Given the description of an element on the screen output the (x, y) to click on. 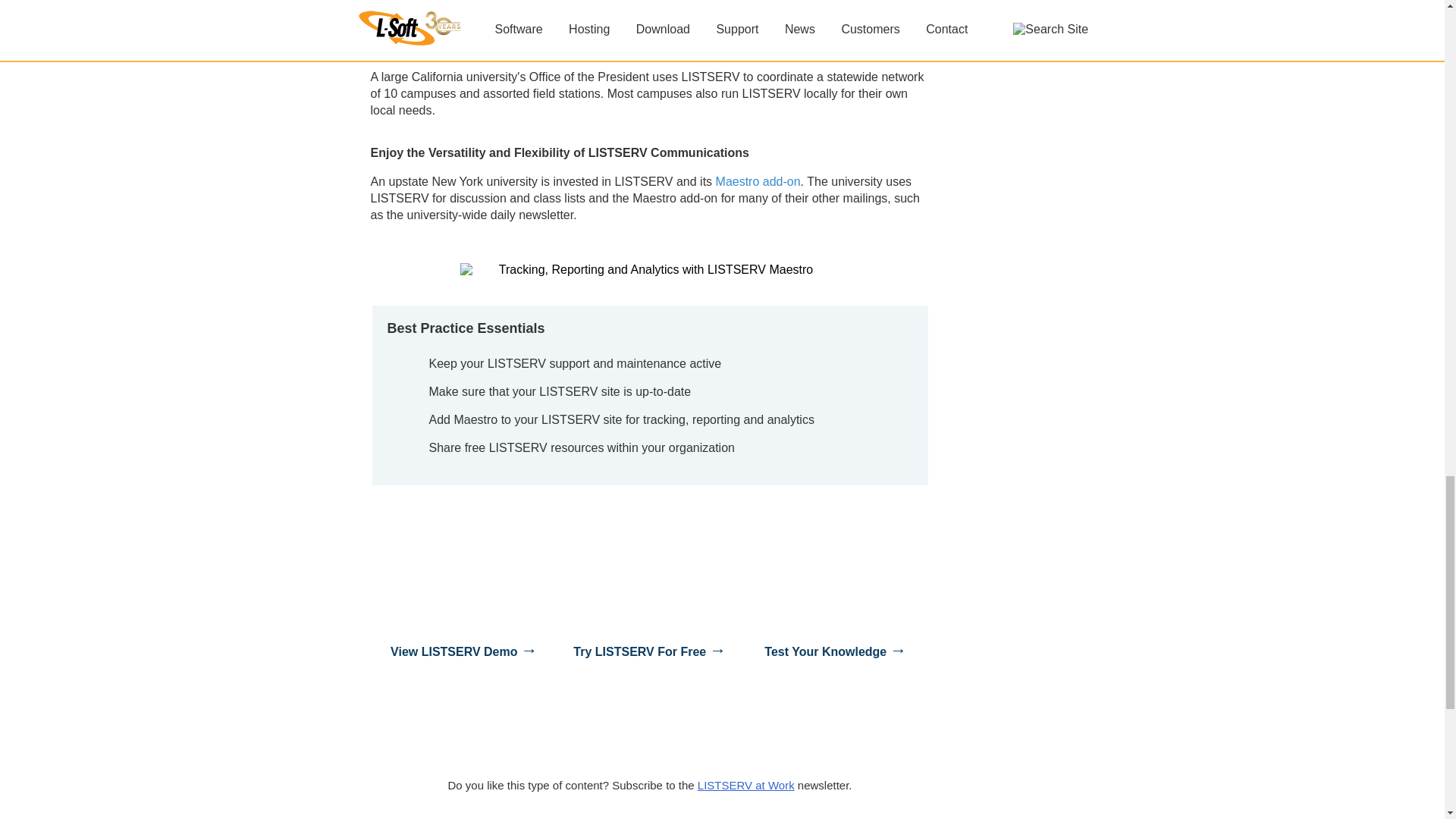
Tracking, Reporting and Analytics with LISTSERV Maestro (650, 269)
